Given the description of an element on the screen output the (x, y) to click on. 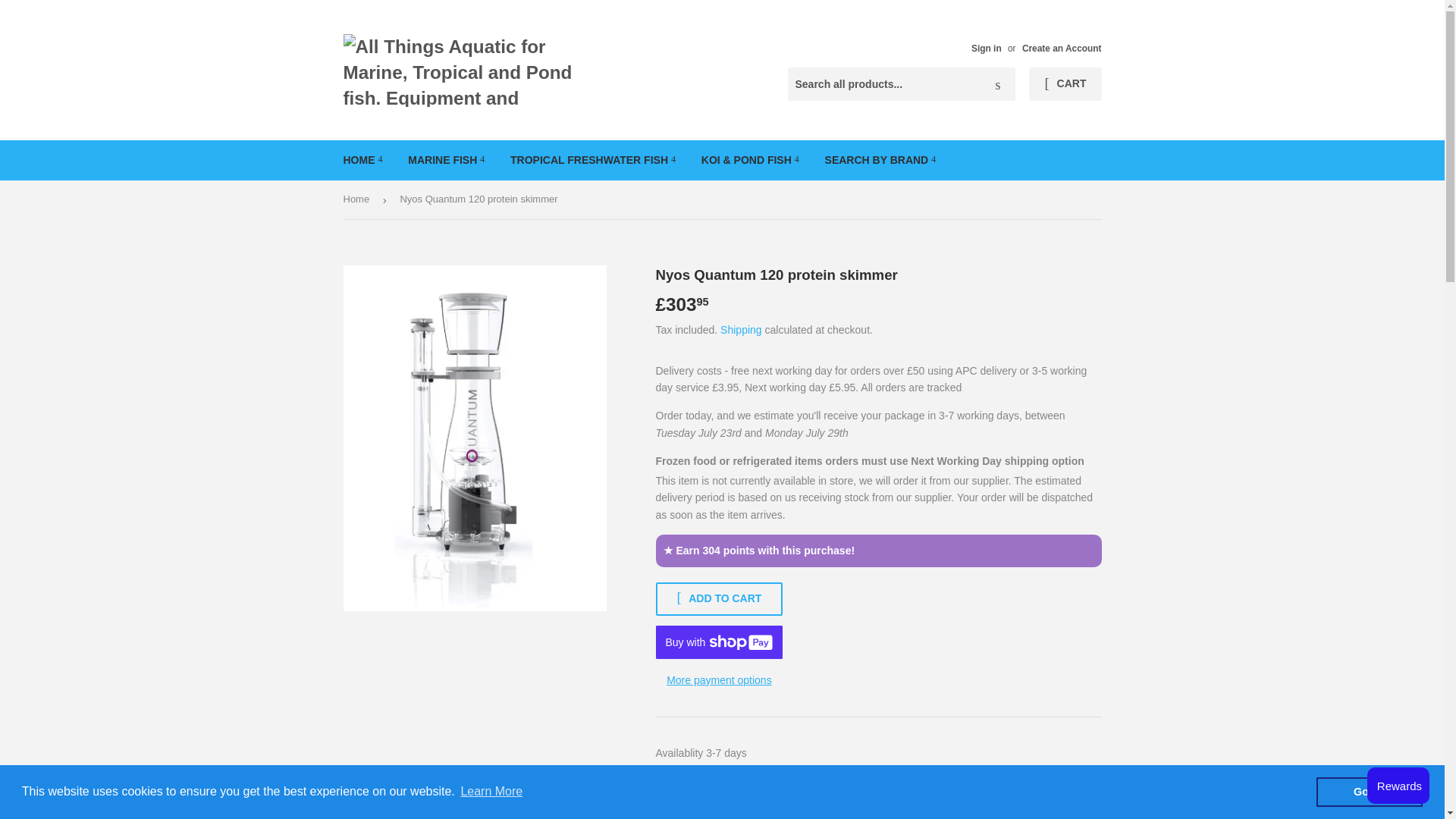
Learn More (491, 791)
Sign in (986, 48)
Create an Account (1062, 48)
LoyaltyLion beacon (1398, 785)
Got it! (1369, 791)
Back to the frontpage (358, 199)
Search (997, 84)
CART (1064, 83)
